Given the description of an element on the screen output the (x, y) to click on. 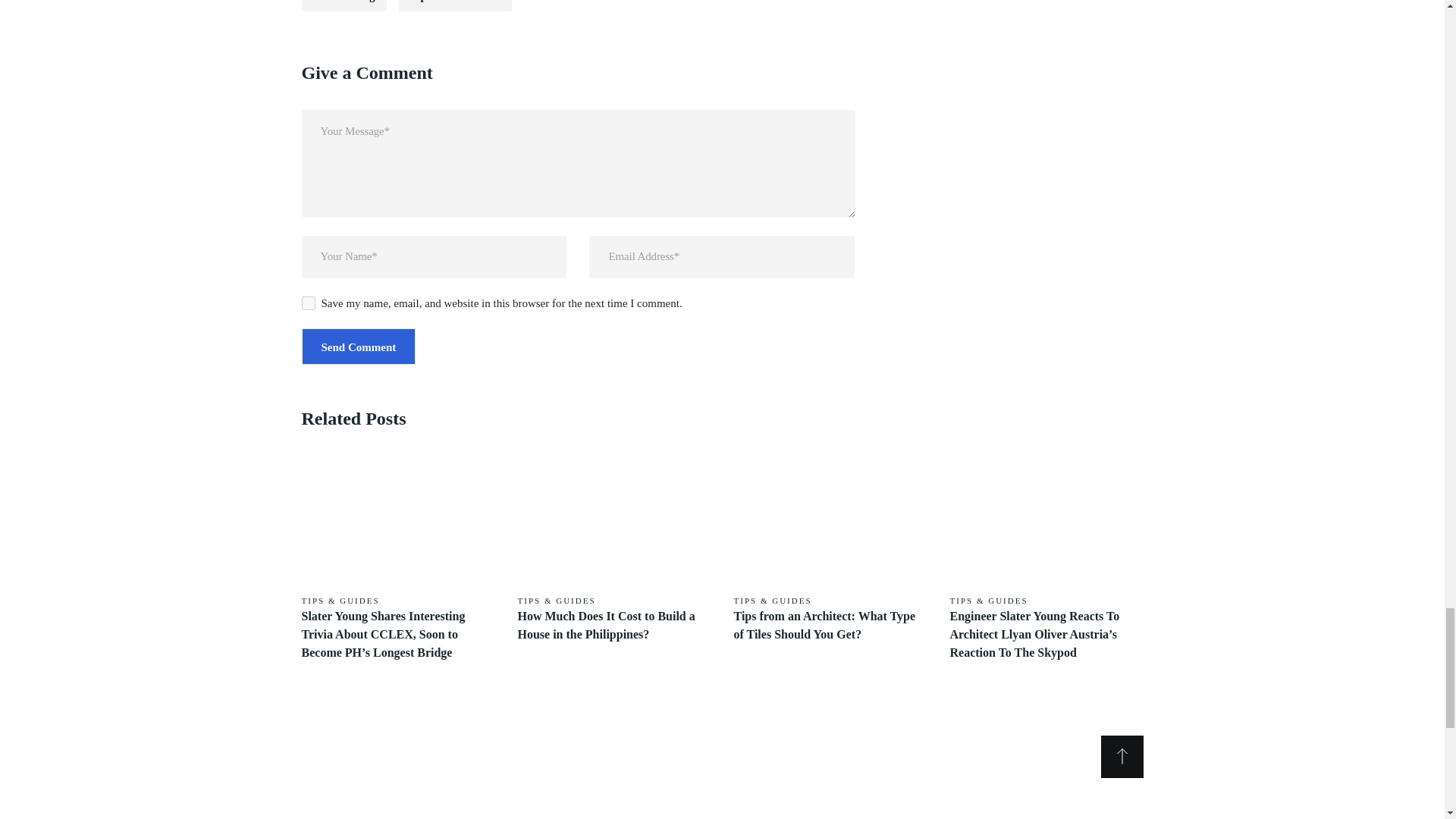
Send Comment (358, 346)
yes (308, 303)
Slater Young (344, 5)
Send Comment (358, 346)
Tips Dream House (455, 5)
